Given the description of an element on the screen output the (x, y) to click on. 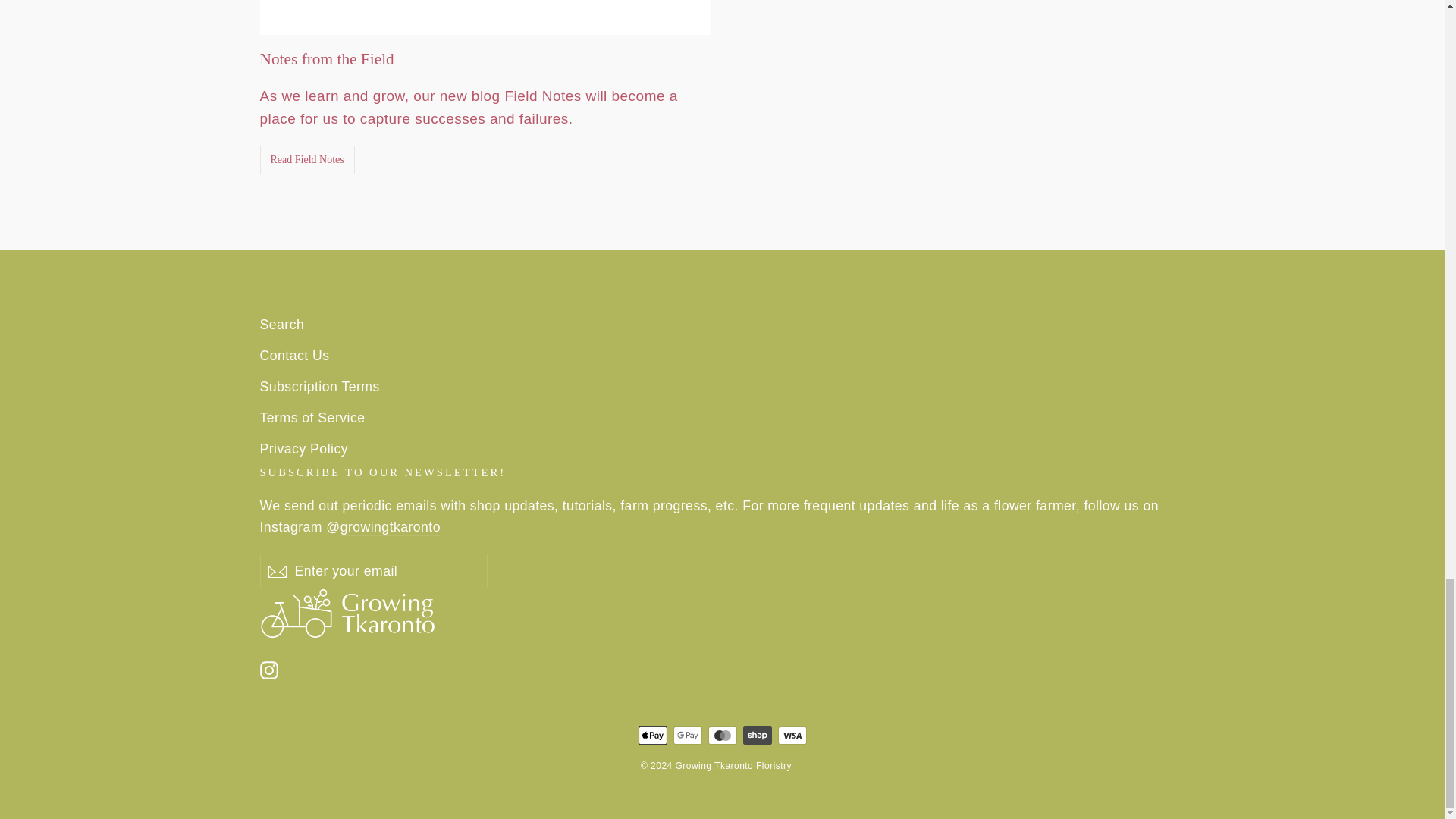
Shop Pay (756, 735)
Google Pay (686, 735)
Mastercard (721, 735)
Apple Pay (652, 735)
Visa (791, 735)
